Given the description of an element on the screen output the (x, y) to click on. 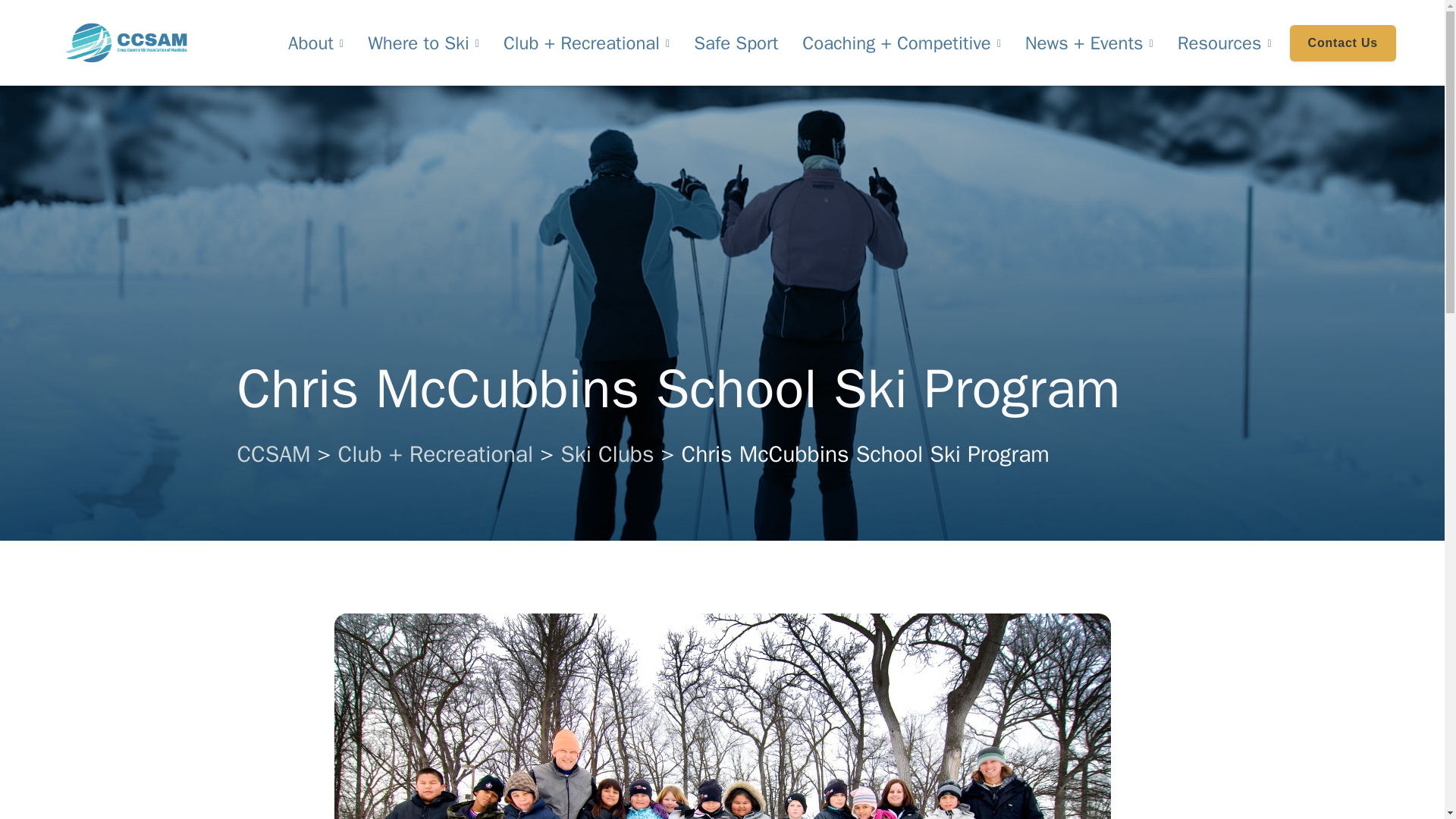
Safe Sport (735, 43)
Go to CCSAM. (272, 453)
Where to Ski (422, 43)
Go to Ski Clubs. (606, 453)
About (315, 43)
